Given the description of an element on the screen output the (x, y) to click on. 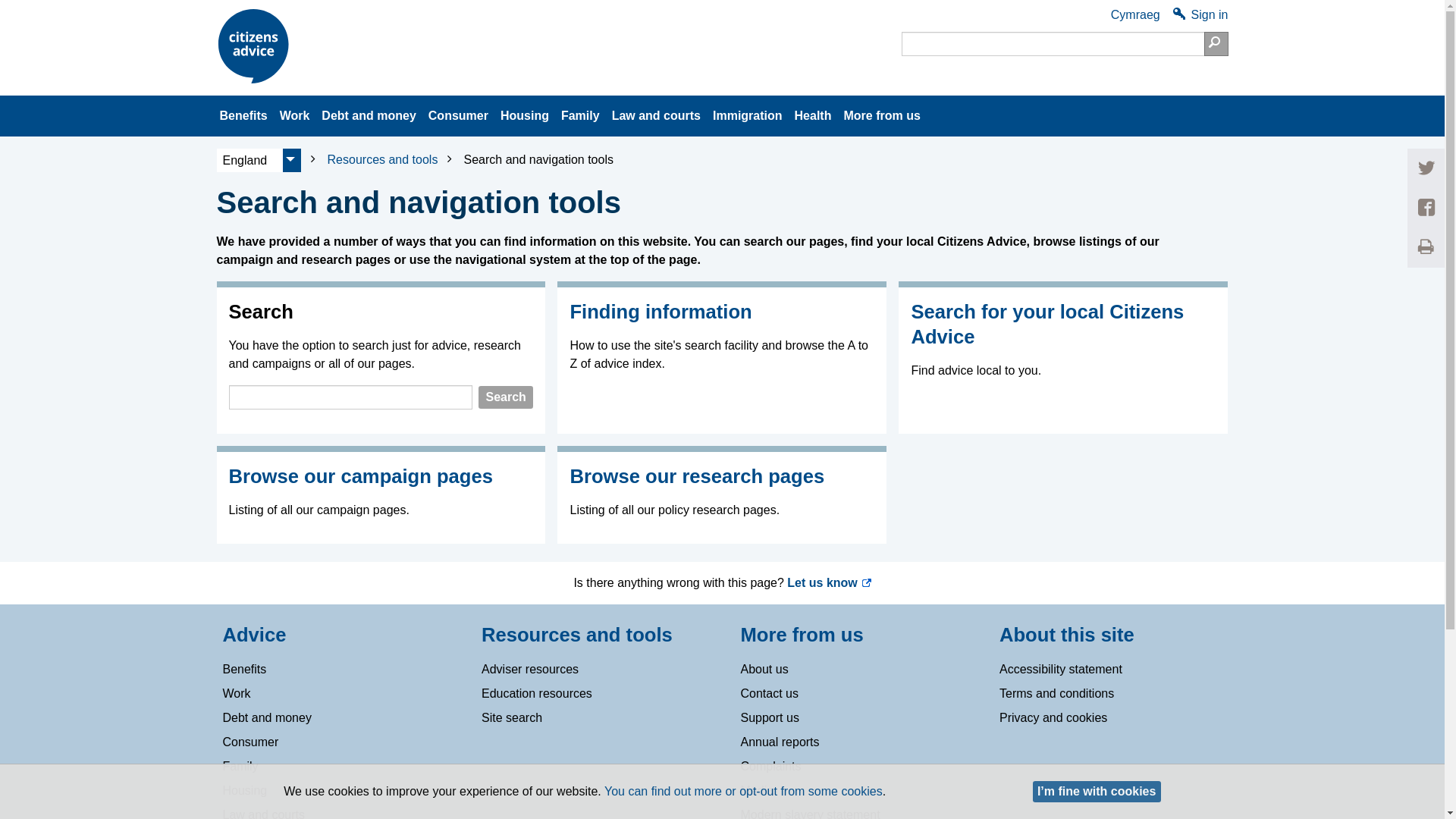
You can find out more or opt-out from some cookies (743, 790)
Debt and money (368, 115)
Work (294, 115)
Skip to navigation (209, 5)
Sign in (1201, 14)
Search (1216, 43)
Search (1216, 43)
Cymraeg (1134, 14)
Benefits (243, 115)
